Given the description of an element on the screen output the (x, y) to click on. 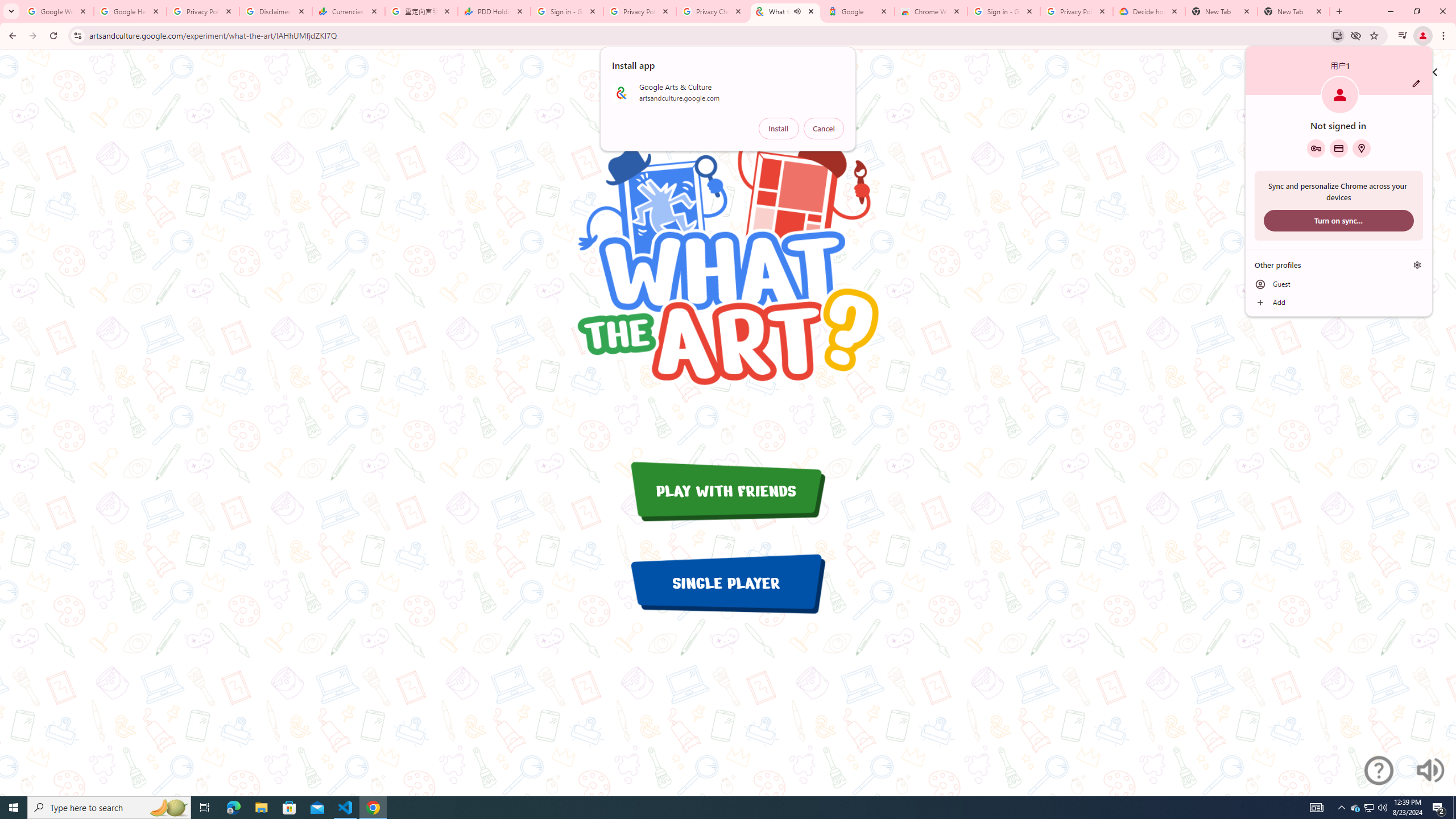
Visual Studio Code - 1 running window (345, 807)
Payment methods (1338, 148)
Task View (204, 807)
Install (778, 128)
Q2790: 100% (1368, 807)
PDD Holdings Inc - ADR (PDD) Price & News - Google Finance (1382, 807)
